Given the description of an element on the screen output the (x, y) to click on. 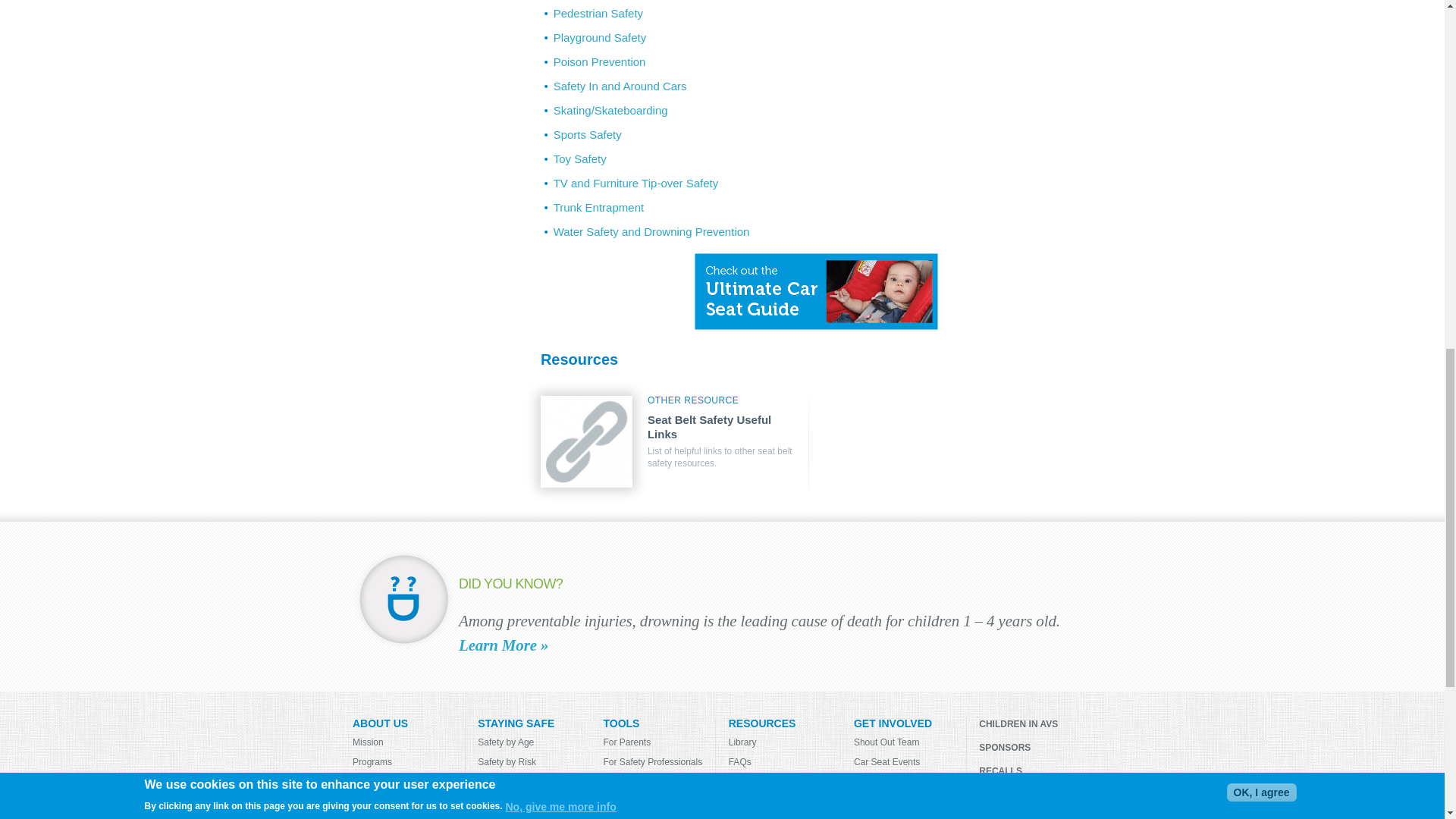
Find Safety Tips by Age (534, 741)
Find Safety Tips to Keep Your Kids Safe! (534, 816)
Safety Issues  (534, 780)
Find Safety Tips by Risk Area (534, 761)
Our Research helps us find ways to keep kids safe! (408, 800)
Seat Belt Safety Useful Links (586, 440)
Find a Car Seat Check-up Event or Inspection Station! (534, 800)
